Given the description of an element on the screen output the (x, y) to click on. 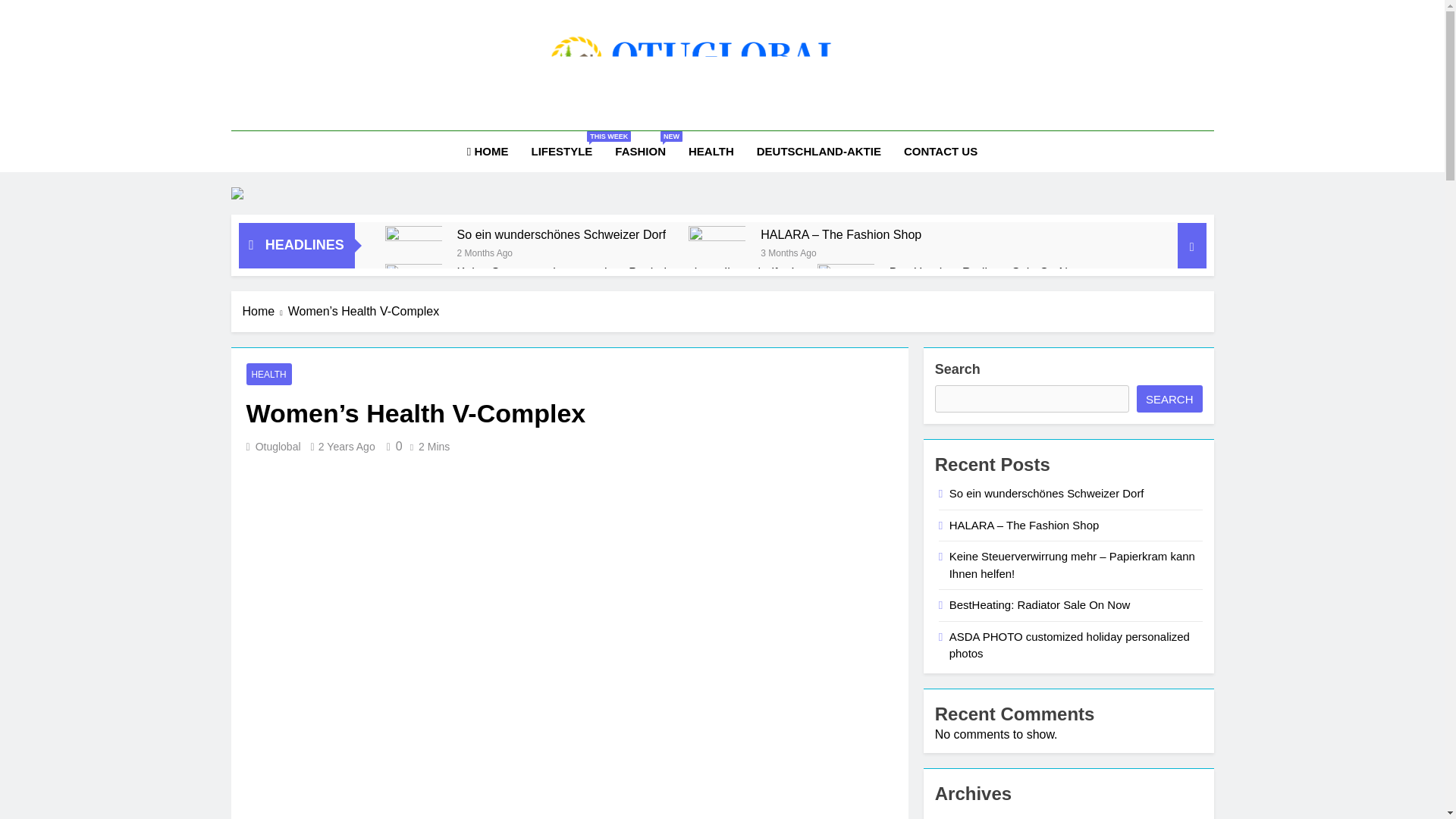
CONTACT US (561, 151)
2 Months Ago (640, 151)
BestHeating: Radiator Sale On Now (940, 151)
HOME (484, 251)
BestHeating: Radiator Sale On Now (845, 282)
BestHeating: Radiator Sale On Now (487, 151)
HEALTH (986, 272)
DEUTSCHLAND-AKTIE (986, 272)
Home (711, 151)
3 Months Ago (818, 151)
